Given the description of an element on the screen output the (x, y) to click on. 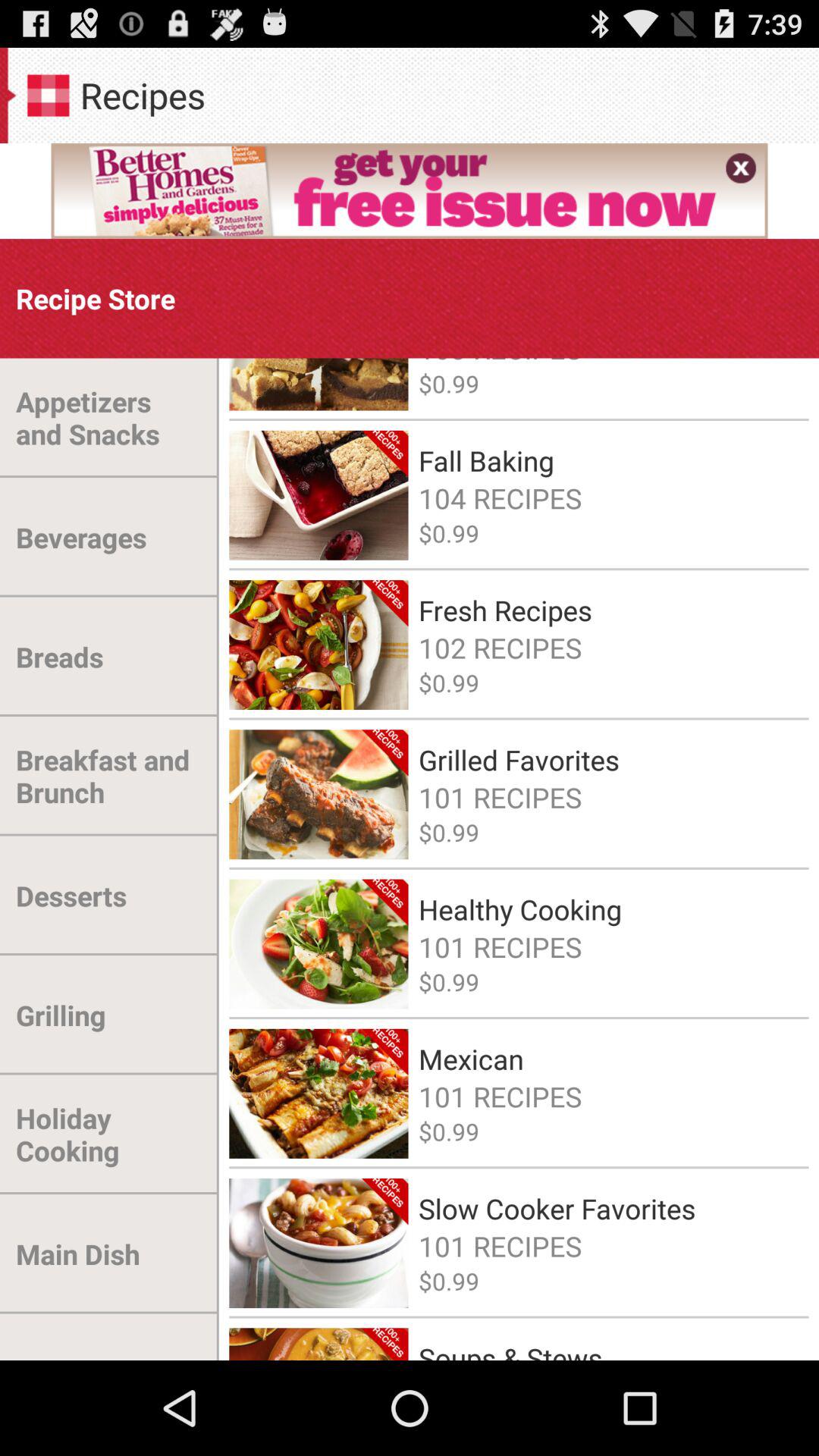
flip until desserts item (71, 895)
